Given the description of an element on the screen output the (x, y) to click on. 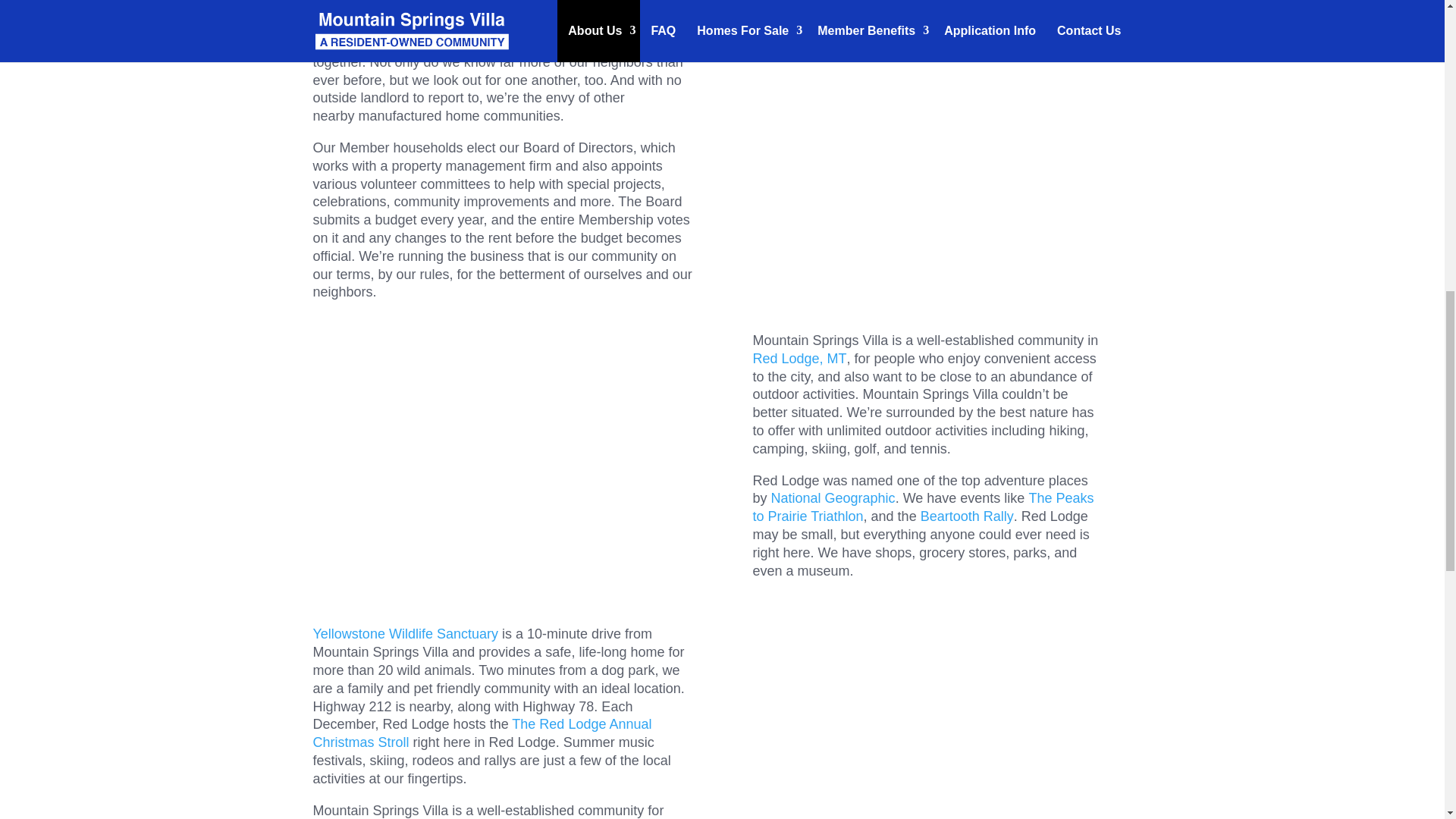
Yellowstone Wildlife Sanctuary (405, 633)
National Geographic (833, 498)
Red Lodge, MT (798, 358)
The Red Lodge Annual Christmas Stroll (481, 733)
Beartooth Rally (966, 516)
The Peaks to Prairie Triathlon (922, 507)
